Given the description of an element on the screen output the (x, y) to click on. 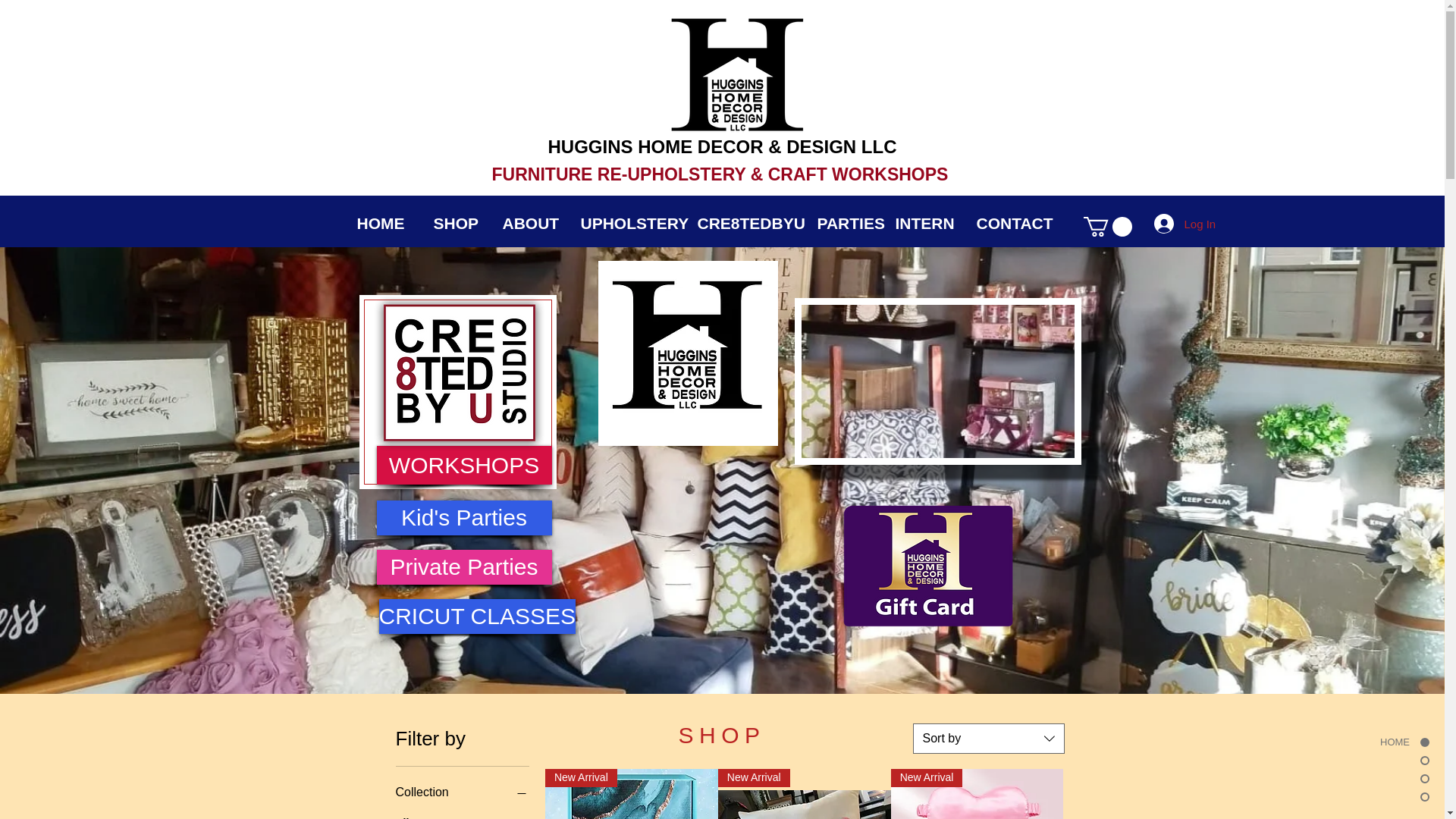
WORKSHOPS (463, 464)
Collection (462, 792)
Sort by (988, 738)
New Arrival (977, 794)
New Arrival (804, 794)
CRICUT CLASSES (477, 615)
New Arrival (630, 794)
Kid's Parties (463, 517)
Private Parties (463, 566)
